Given the description of an element on the screen output the (x, y) to click on. 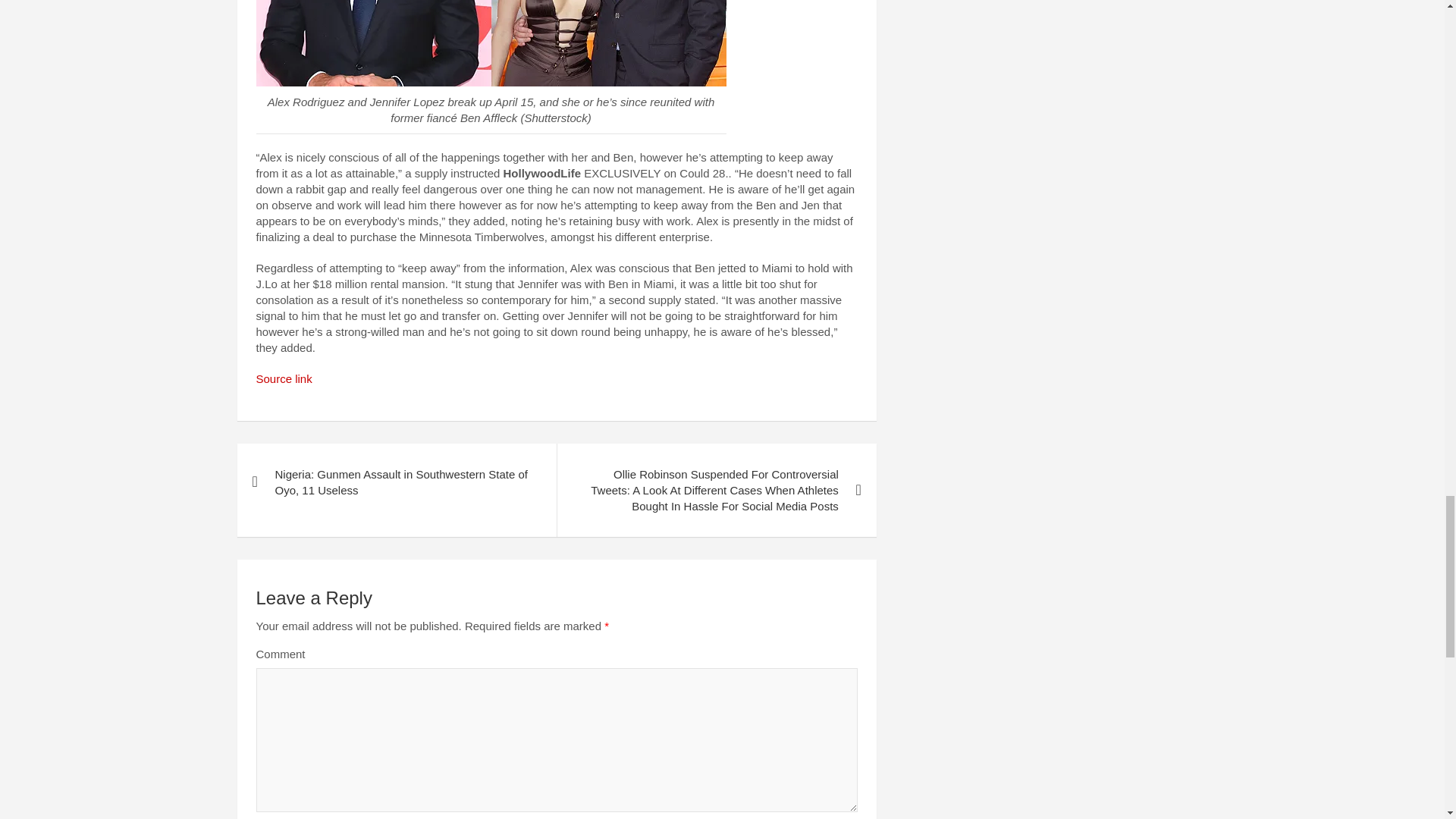
Source link (284, 378)
